Given the description of an element on the screen output the (x, y) to click on. 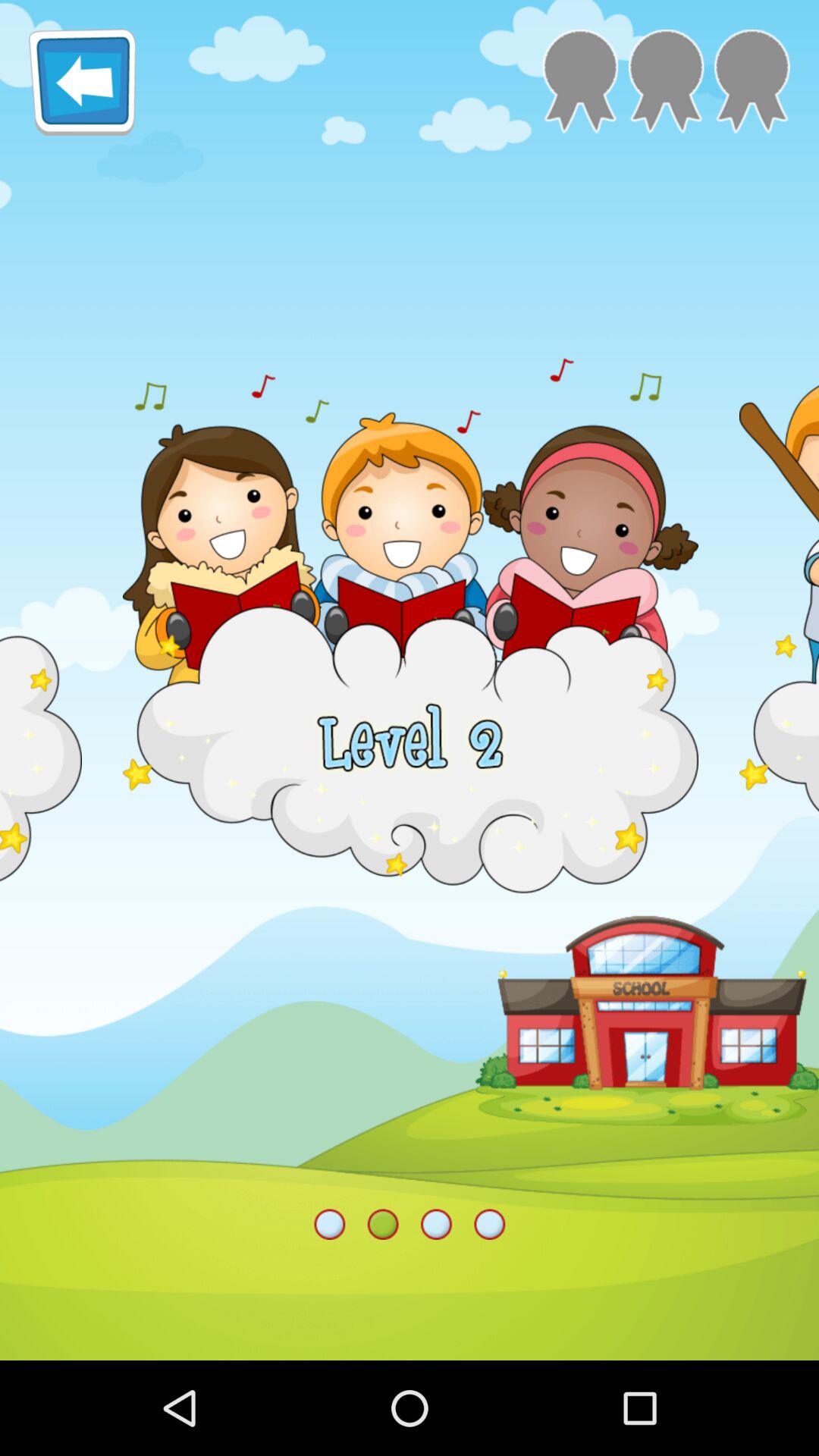
award medal indicator (666, 81)
